Given the description of an element on the screen output the (x, y) to click on. 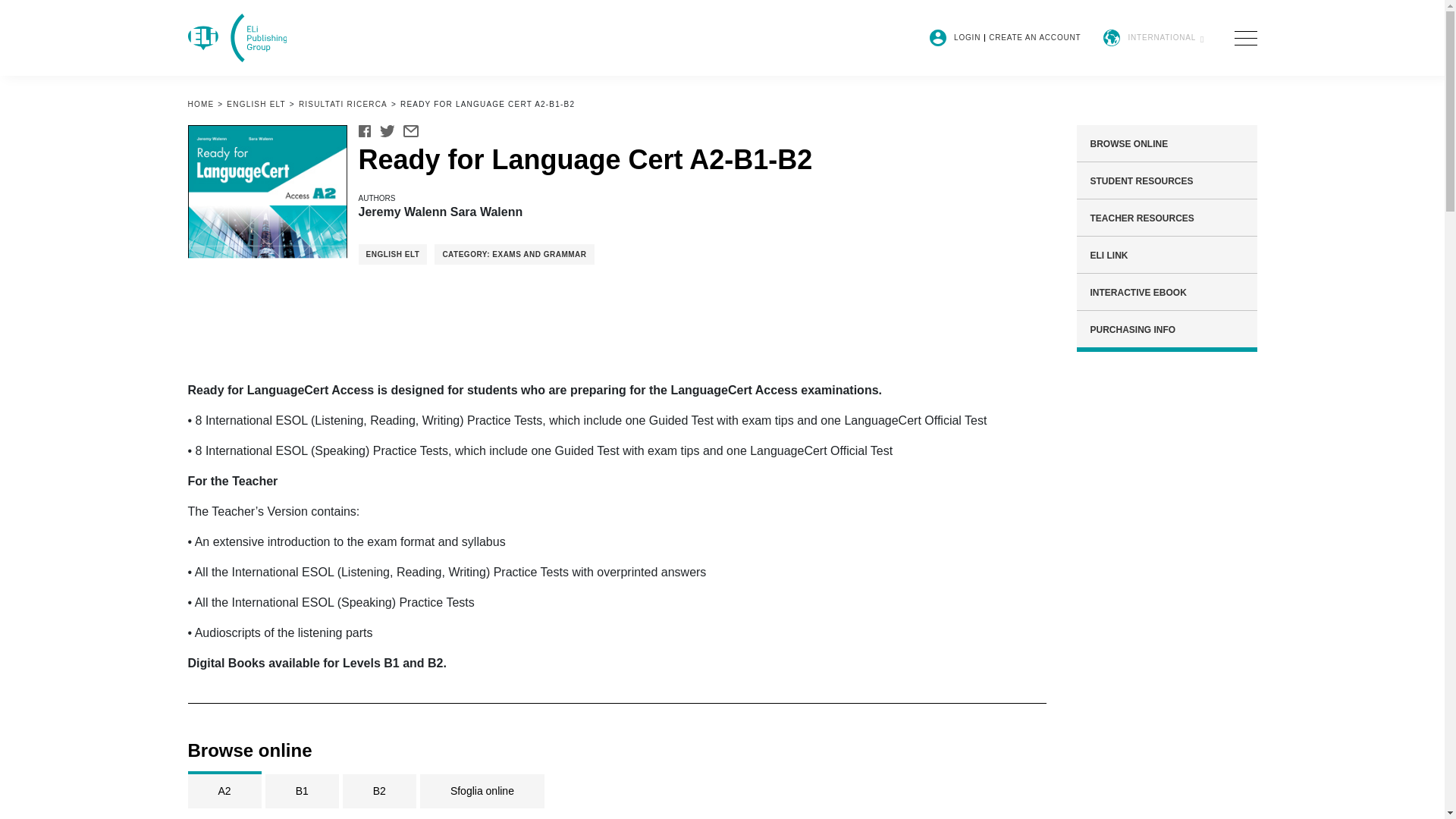
CATEGORY: EXAMS AND GRAMMAR (513, 254)
ENGLISH ELT (392, 254)
A2 (224, 789)
B2 (379, 789)
B1 (301, 789)
HOME (200, 103)
ENGLISH ELT (256, 103)
LOGIN (969, 37)
RISULTATI RICERCA (342, 103)
INTERNATIONAL (1153, 37)
CREATE AN ACCOUNT (1034, 37)
